Given the description of an element on the screen output the (x, y) to click on. 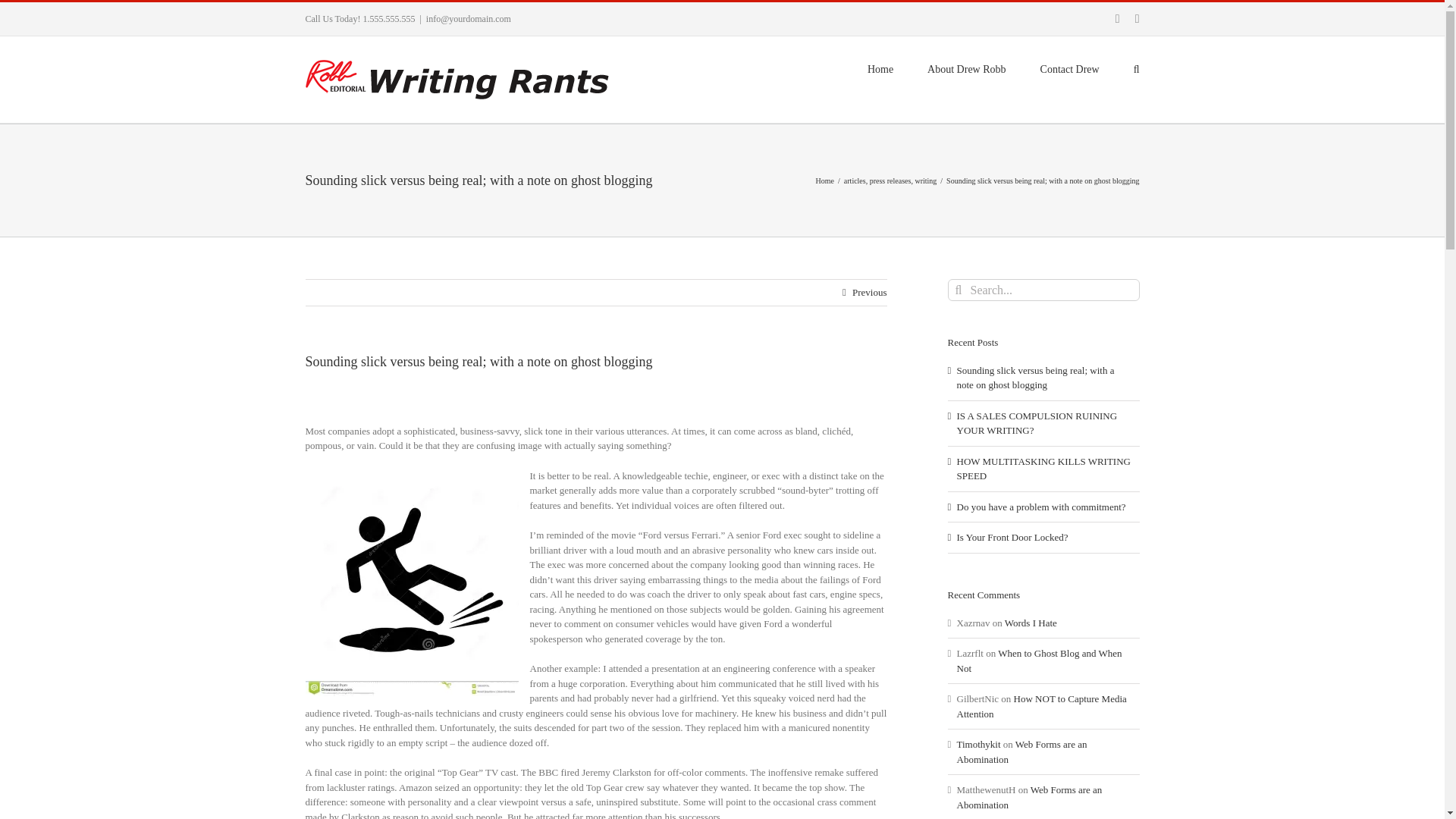
writing (925, 180)
Previous (868, 292)
press releases (890, 180)
articles (855, 180)
Contact Drew (1070, 67)
About Drew Robb (966, 67)
Home (824, 180)
